Given the description of an element on the screen output the (x, y) to click on. 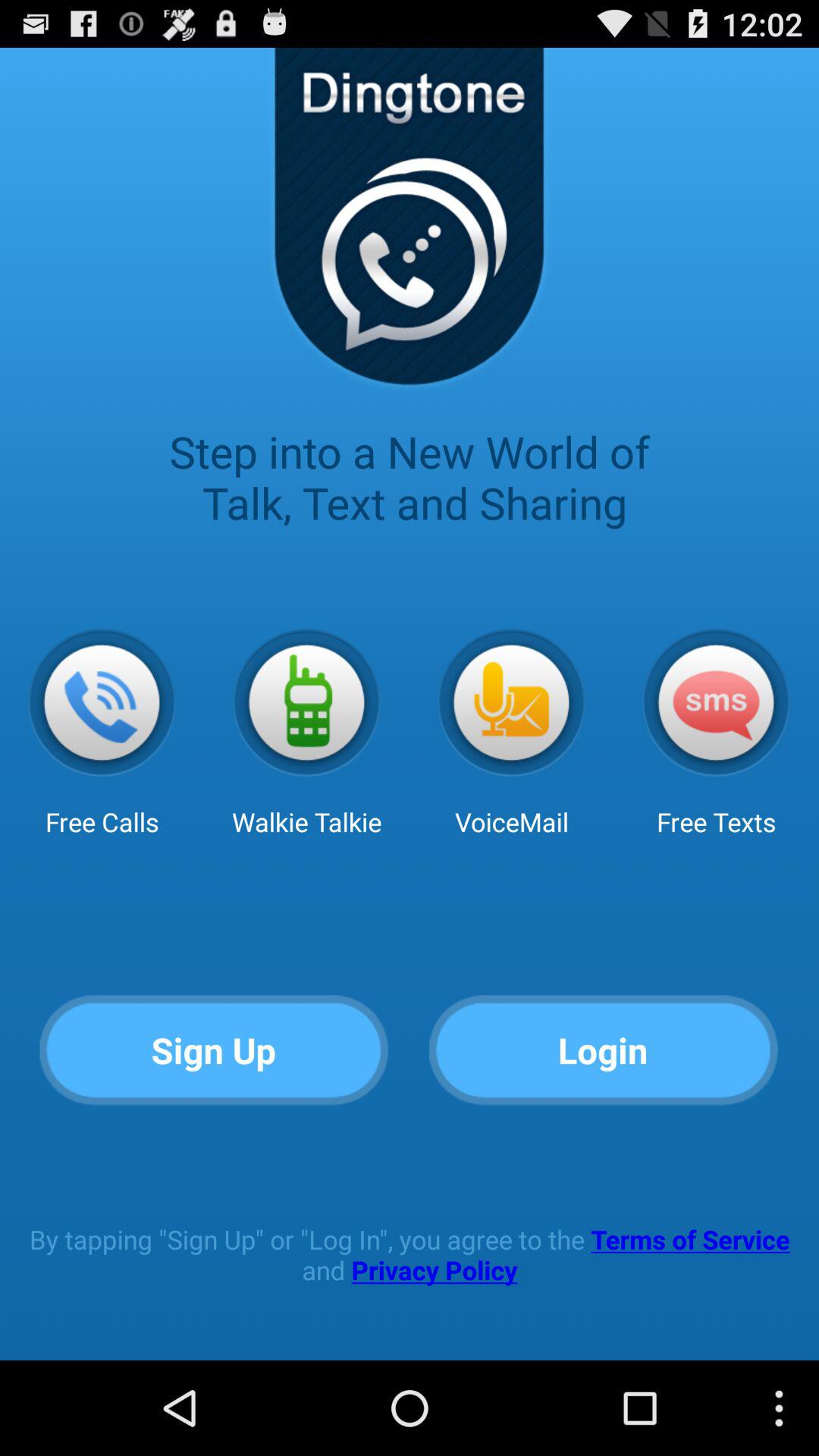
turn off login (604, 1050)
